Given the description of an element on the screen output the (x, y) to click on. 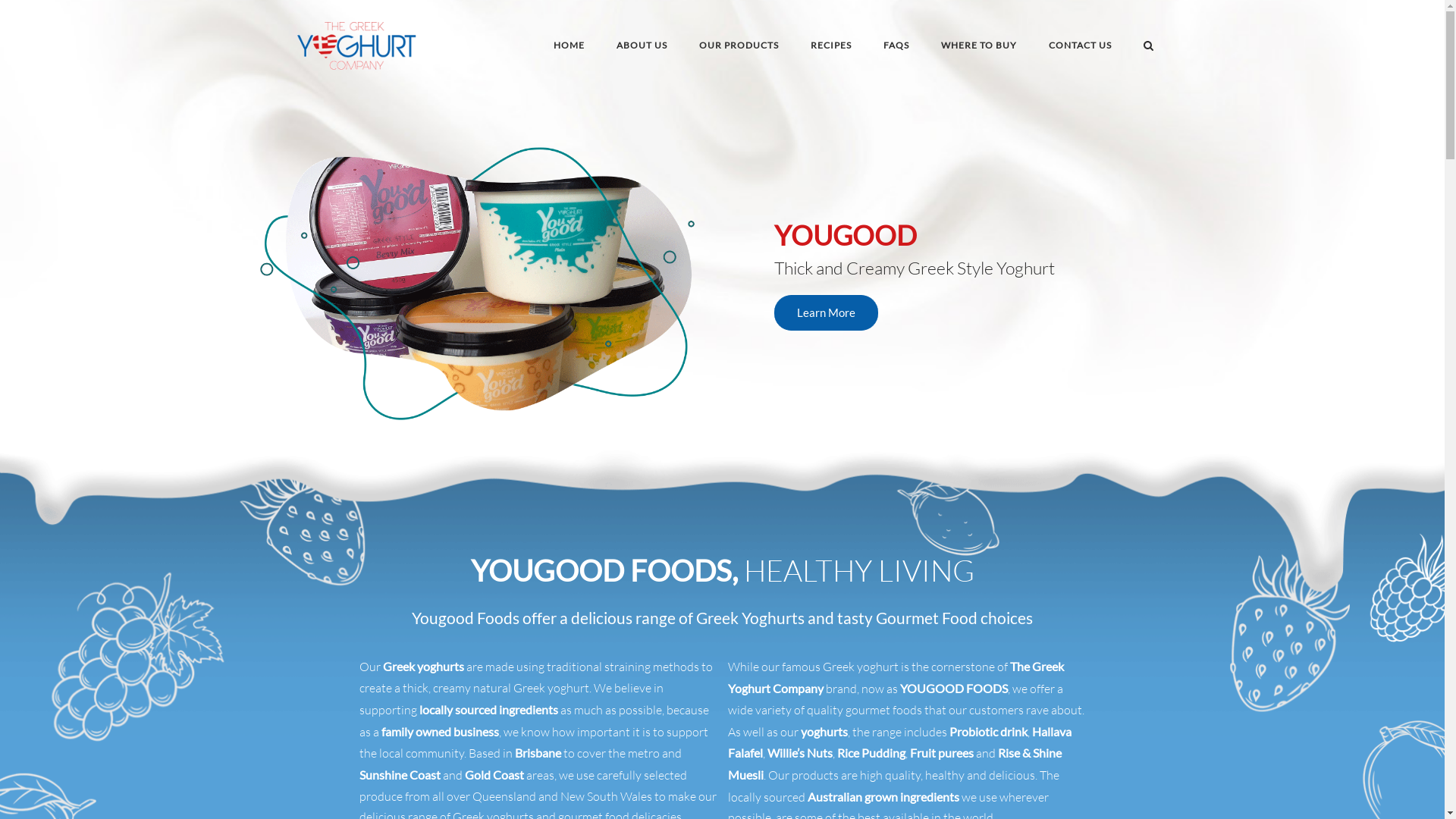
OUR PRODUCTS Element type: text (738, 47)
Learn More Element type: text (826, 312)
HOME Element type: text (568, 47)
CONTACT US Element type: text (1079, 47)
FAQS Element type: text (895, 47)
RECIPES Element type: text (829, 47)
ABOUT US Element type: text (640, 47)
WHERE TO BUY Element type: text (978, 47)
Skip to content Element type: text (0, 0)
